Given the description of an element on the screen output the (x, y) to click on. 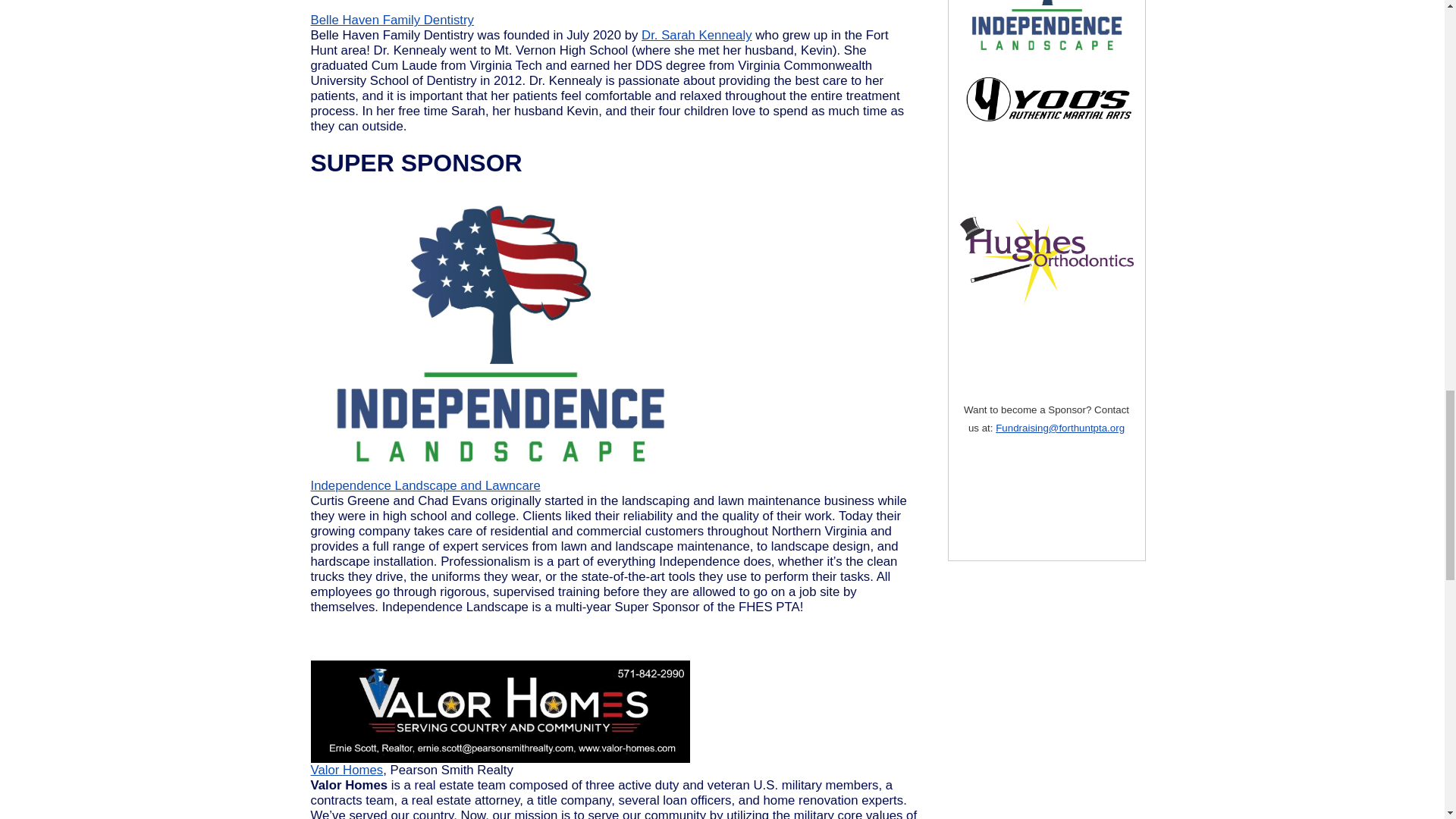
Dr. Sarah Kennealy (697, 34)
Belle Haven Family Dentistry (392, 20)
Independence Landscape and Lawncare (425, 485)
